Given the description of an element on the screen output the (x, y) to click on. 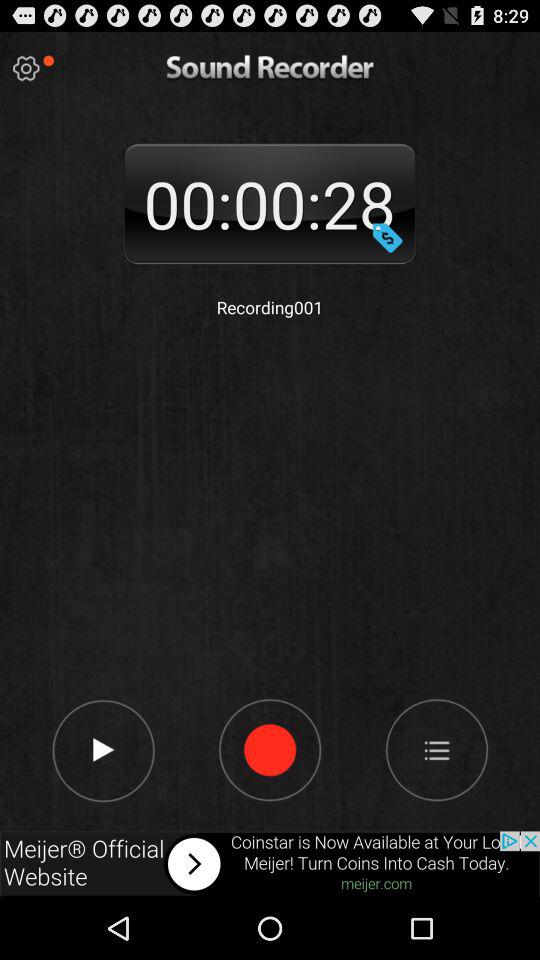
menu icone (436, 749)
